Given the description of an element on the screen output the (x, y) to click on. 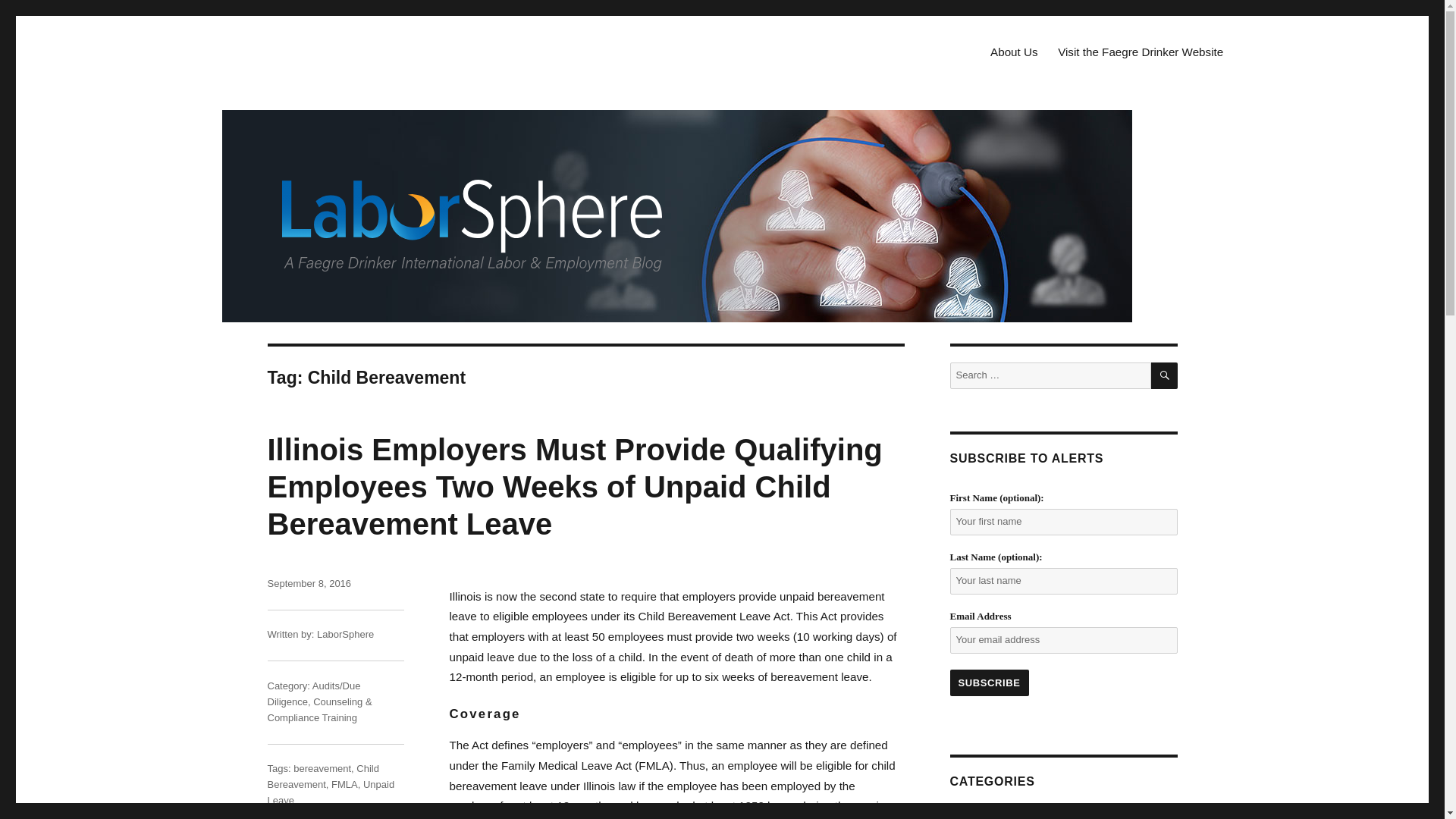
SEARCH (1164, 375)
About Us (1013, 51)
LaborSphere (345, 633)
Unpaid Leave (330, 791)
Visit the Faegre Drinker Website (1140, 51)
Subscribe (988, 682)
Subscribe (988, 682)
Posts by LaborSphere (345, 633)
Child Bereavement (322, 776)
